Given the description of an element on the screen output the (x, y) to click on. 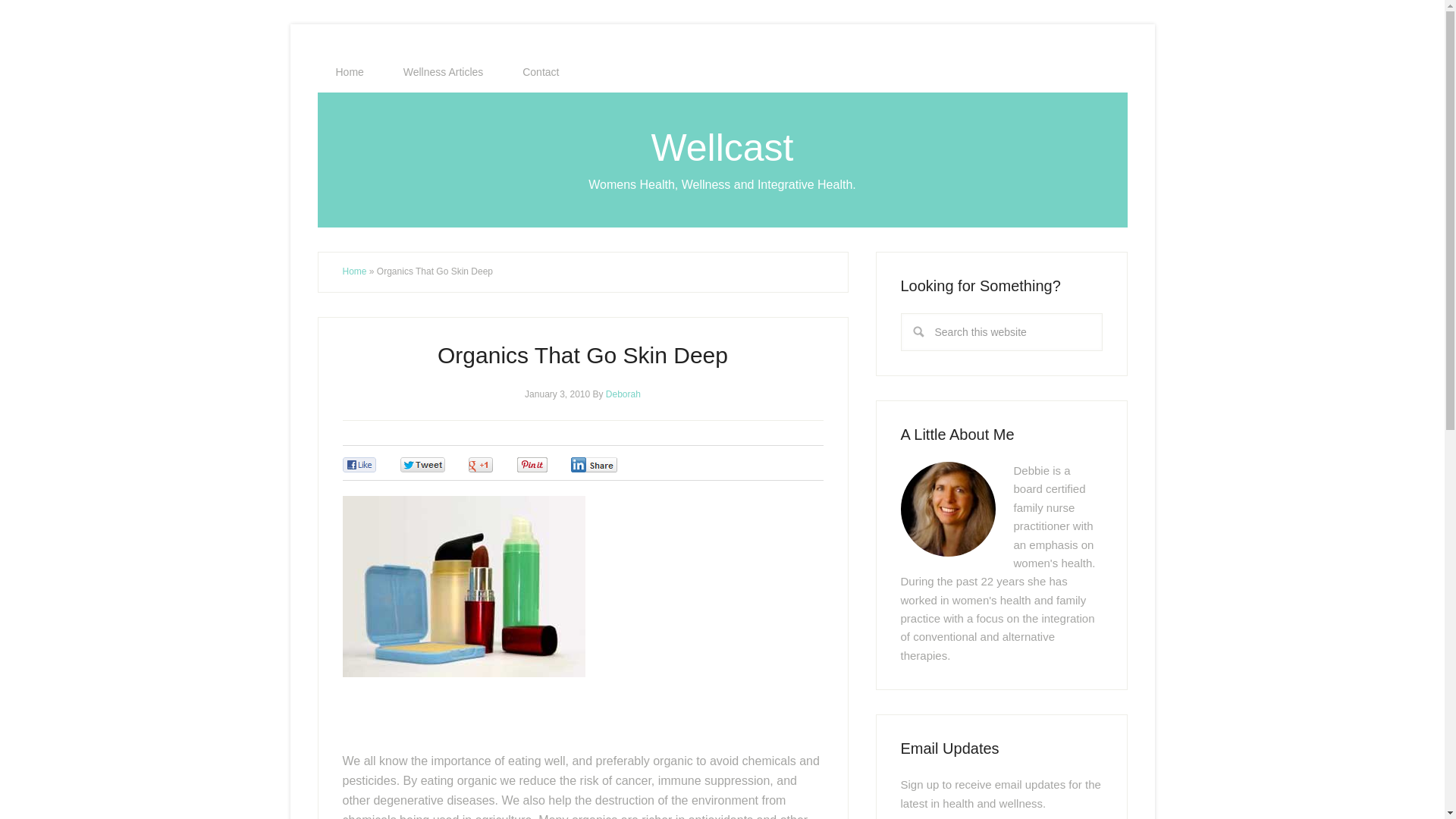
Deborah (622, 393)
Home (349, 71)
Be the first one to tweet this article! (438, 465)
Contact (539, 71)
Wellness Articles (443, 71)
Home (354, 271)
Wellcast (721, 147)
